Given the description of an element on the screen output the (x, y) to click on. 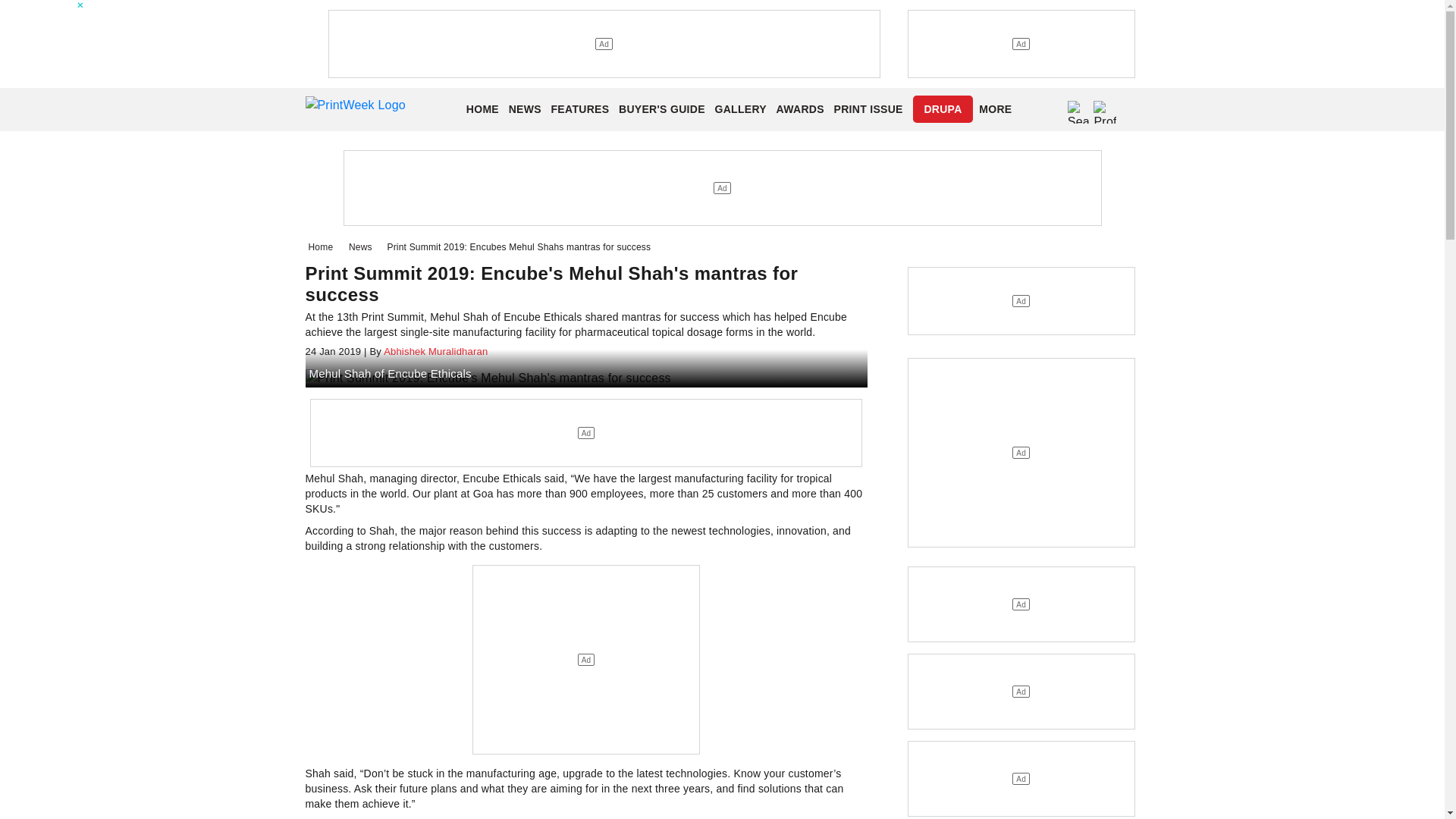
MORE (994, 109)
FEATURES (580, 109)
Abhishek Muralidharan (434, 351)
NEWS (524, 109)
DRUPA (942, 108)
Home (323, 246)
BUYER'S GUIDE (661, 109)
Buyer's Guide (661, 109)
GALLERY (739, 109)
Search In PrintWeek India Website (1078, 111)
